Given the description of an element on the screen output the (x, y) to click on. 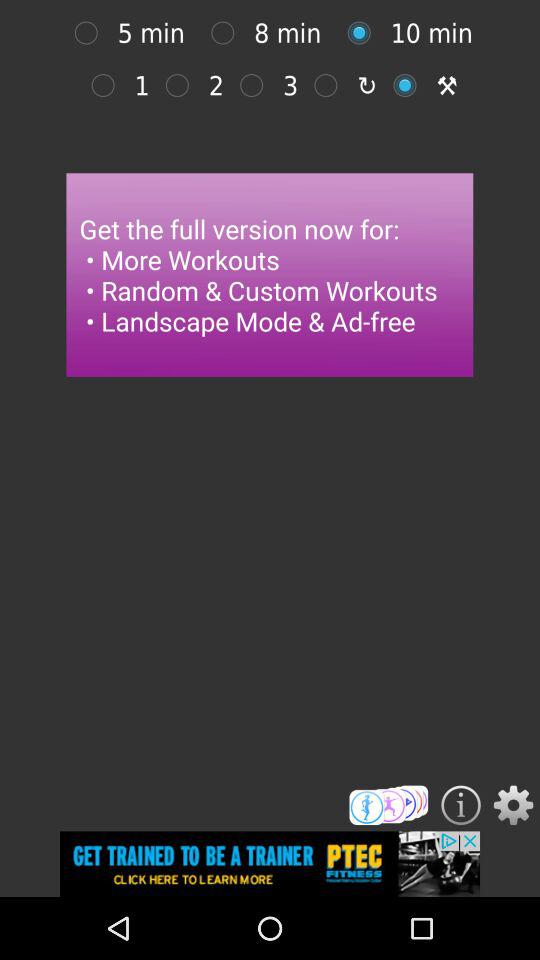
2 min (182, 85)
